Given the description of an element on the screen output the (x, y) to click on. 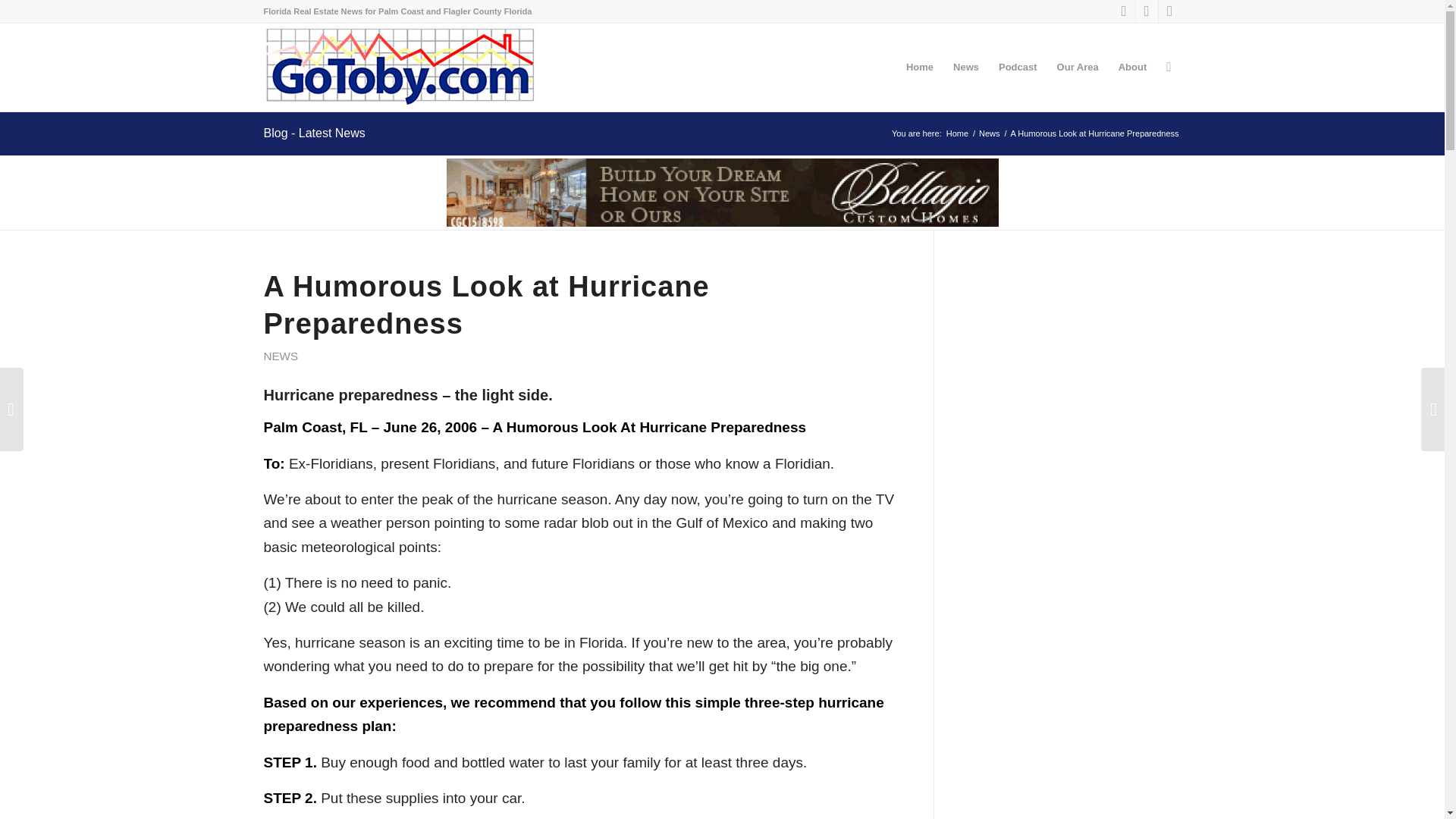
News (989, 133)
Facebook (1124, 11)
Permanent Link: Blog - Latest News (314, 132)
NEWS (280, 355)
Home (957, 133)
Twitter (1146, 11)
LinkedIn (1169, 11)
Go Toby (957, 133)
Blog - Latest News (314, 132)
